Given the description of an element on the screen output the (x, y) to click on. 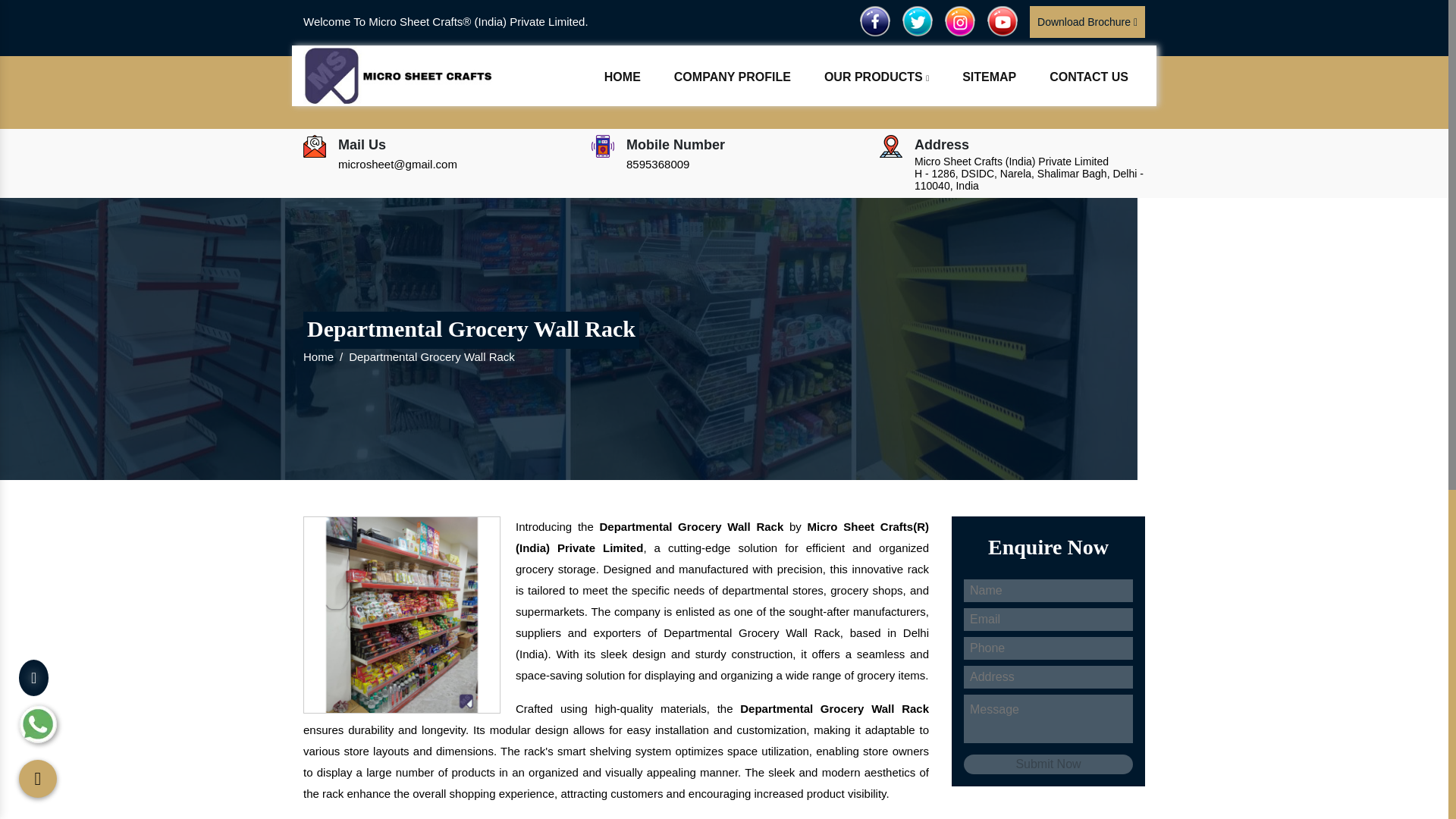
HOME (622, 77)
OUR PRODUCTS (876, 77)
Youtube (1002, 20)
Facebook (874, 20)
Twitter (917, 20)
COMPANY PROFILE (732, 77)
Download Brochure (1086, 21)
Instagram (959, 20)
